Given the description of an element on the screen output the (x, y) to click on. 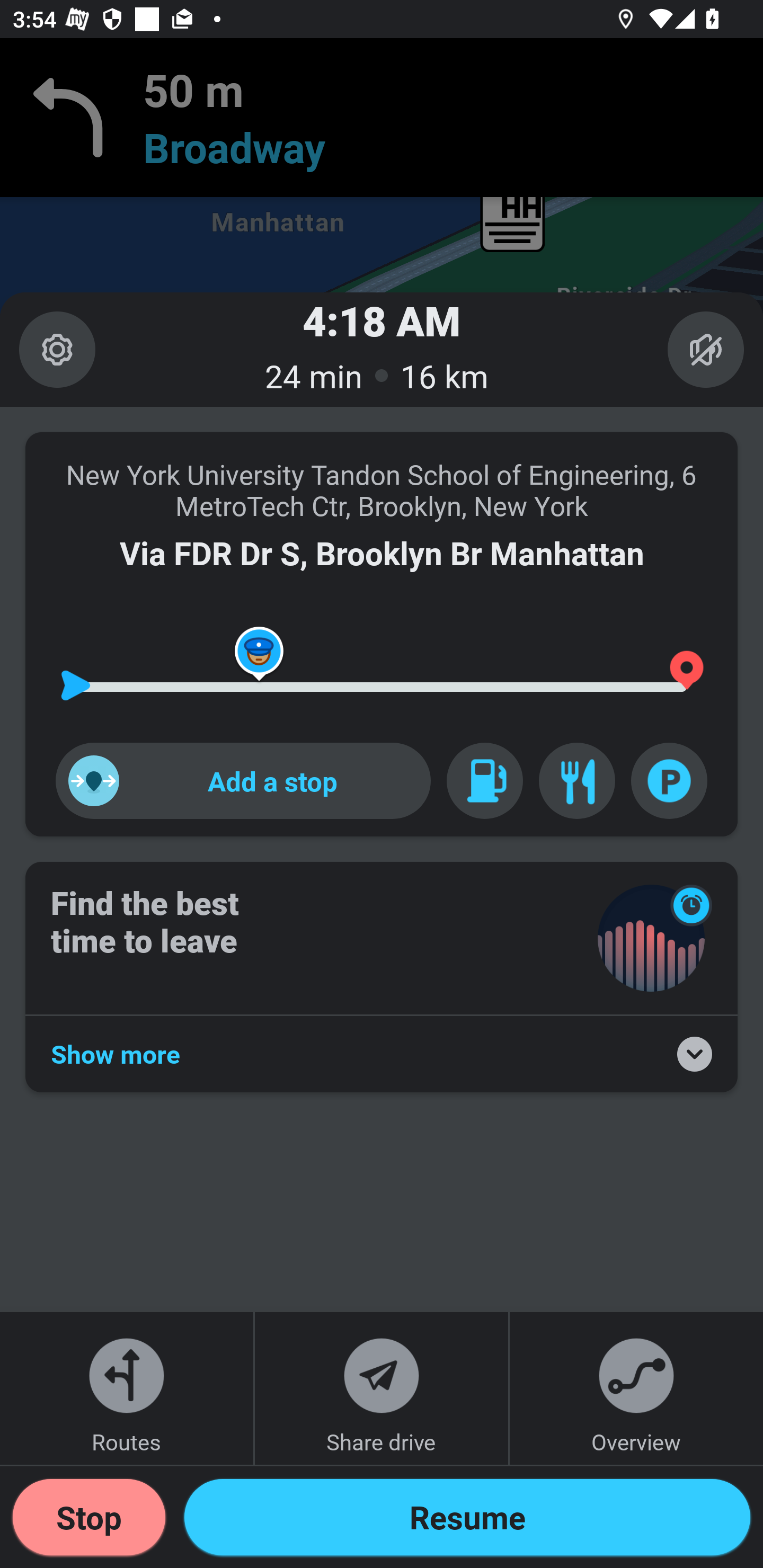
50 m Broadway (381, 117)
4:18 AM 24 min 16 km (381, 348)
Add a stop (243, 780)
Find the best time to leave Show more (381, 977)
Routes (126, 1388)
Share drive (381, 1388)
Overview (636, 1388)
Stop (88, 1516)
ETA_DRAWER_GO_BUTTON Resume (466, 1516)
